Given the description of an element on the screen output the (x, y) to click on. 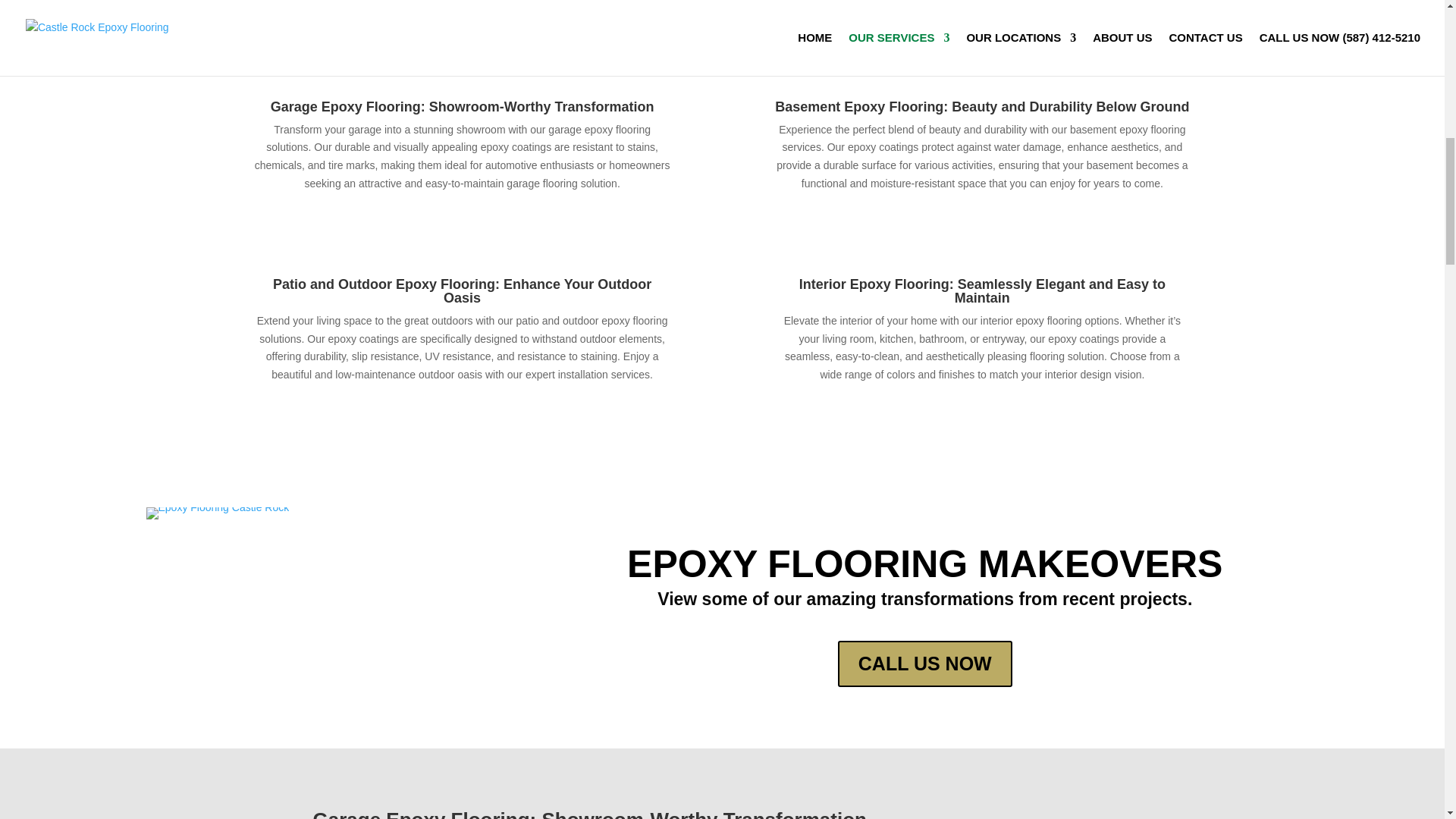
Epoxy Flooring Castle Rock (216, 507)
Basement Epoxy Flooring: Beauty and Durability Below Ground (981, 106)
CALL US NOW (924, 663)
Patio and Outdoor Epoxy Flooring: Enhance Your Outdoor Oasis (461, 290)
